Given the description of an element on the screen output the (x, y) to click on. 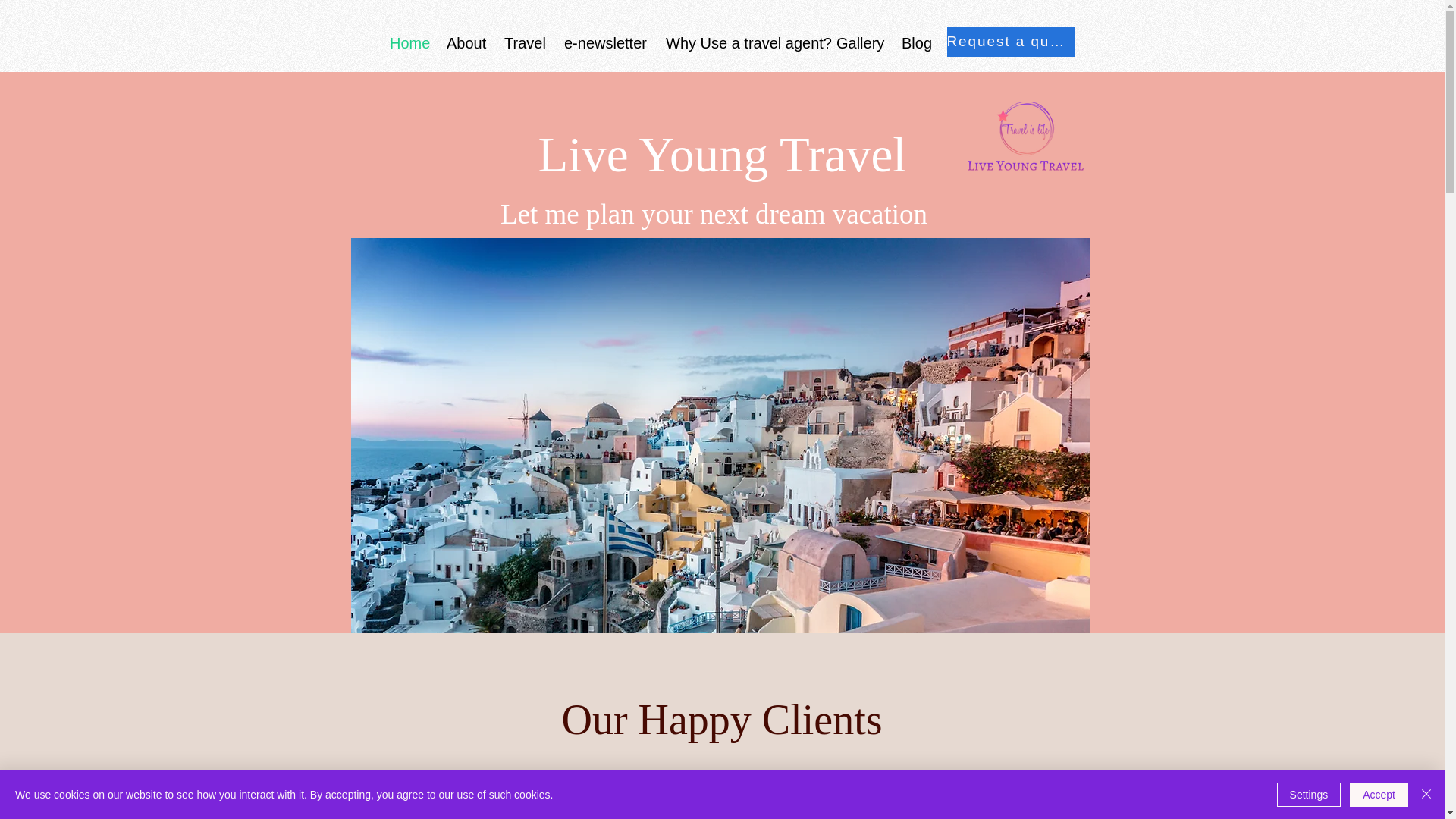
About (464, 42)
Travel (523, 42)
e-newsletter (603, 42)
Request a Quote (1000, 42)
Gallery (857, 42)
Live Young Travel logo small.png (1025, 135)
Blog (914, 42)
Why Use a travel agent? (739, 42)
Accept (1378, 794)
Home (406, 42)
